Given the description of an element on the screen output the (x, y) to click on. 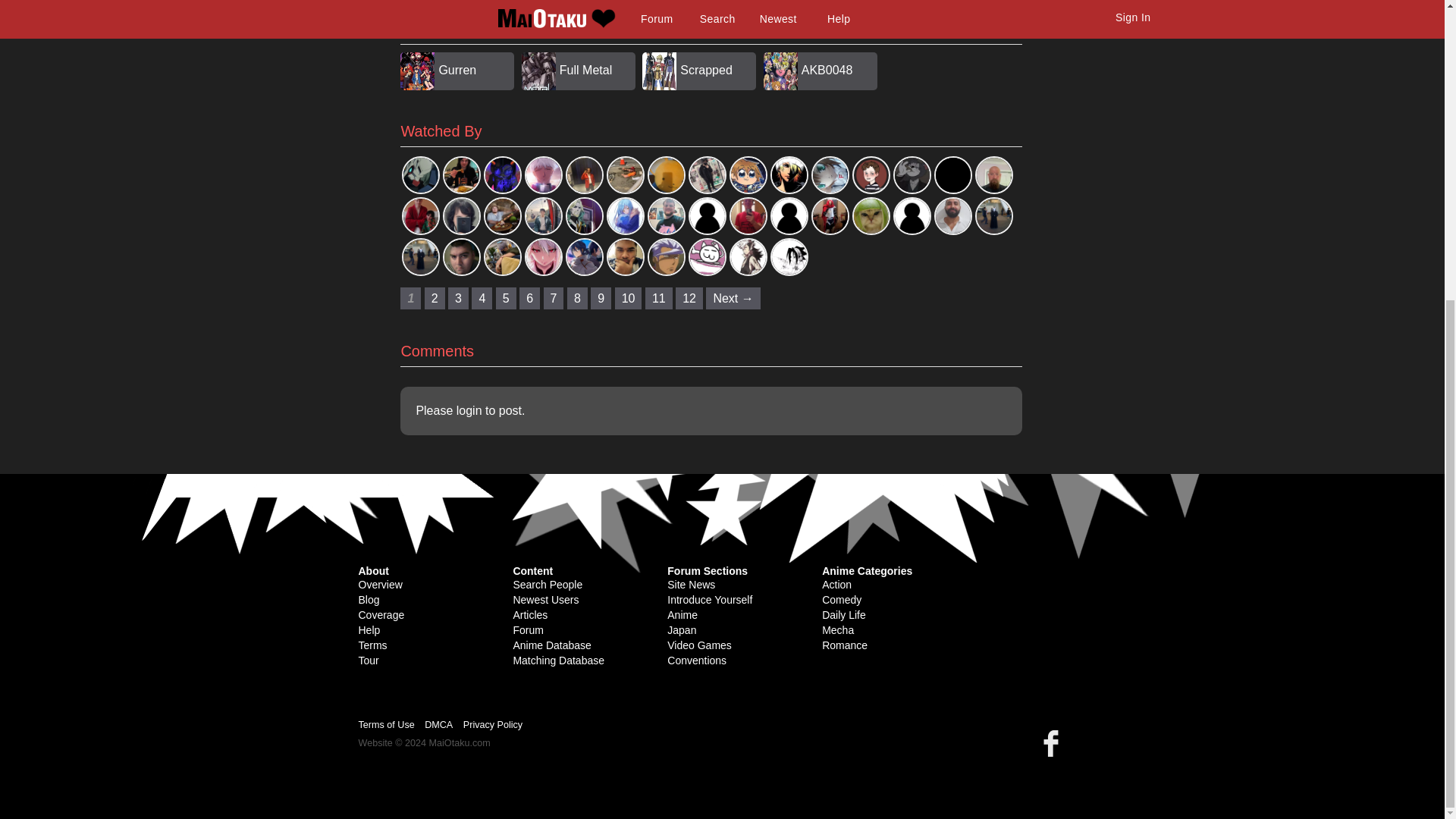
Full Metal Panic! (585, 88)
Scrapped Princess (705, 88)
AKB0048 (827, 69)
Join us on Facebook (1053, 742)
